Given the description of an element on the screen output the (x, y) to click on. 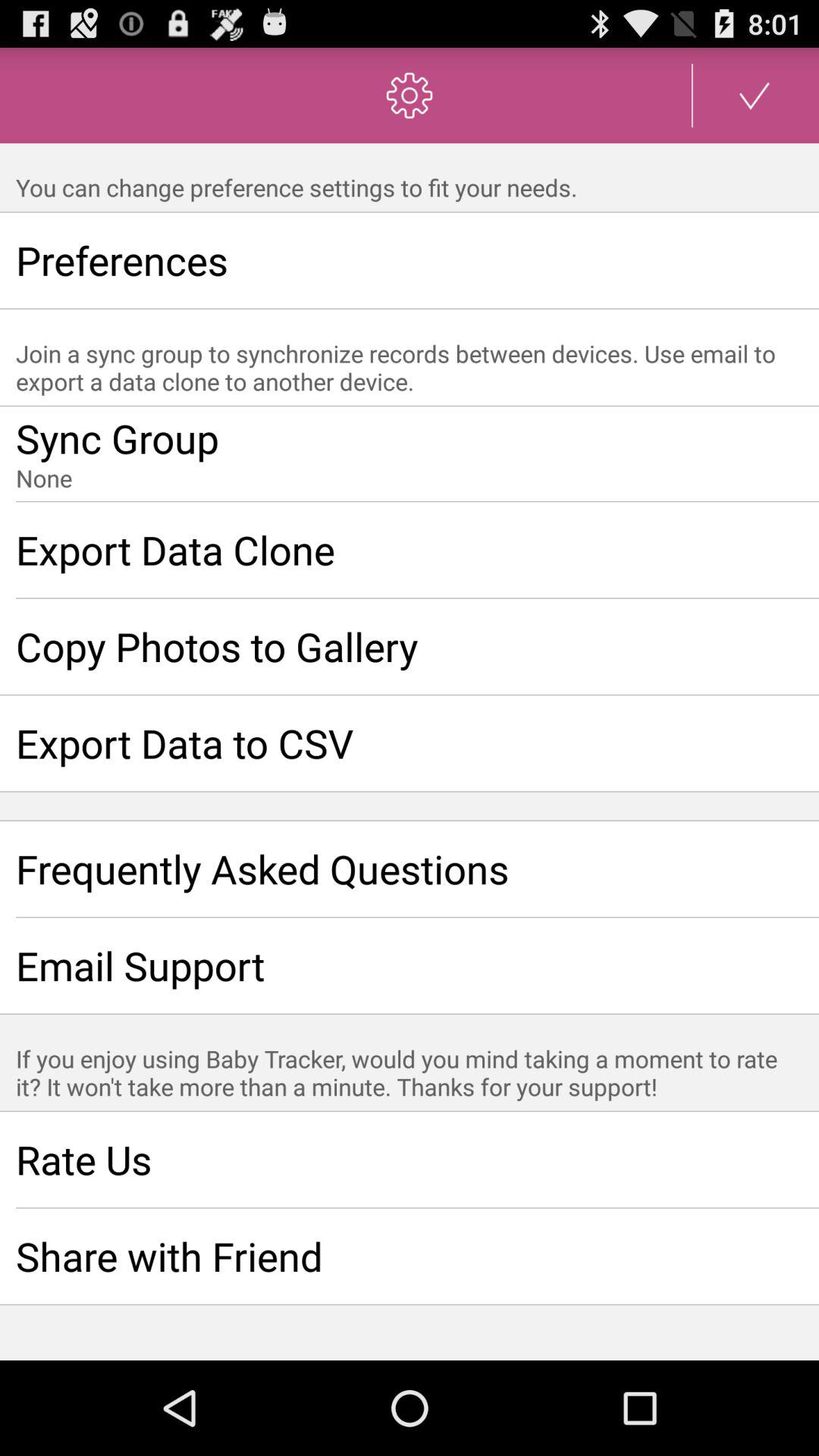
confirm (755, 95)
